Given the description of an element on the screen output the (x, y) to click on. 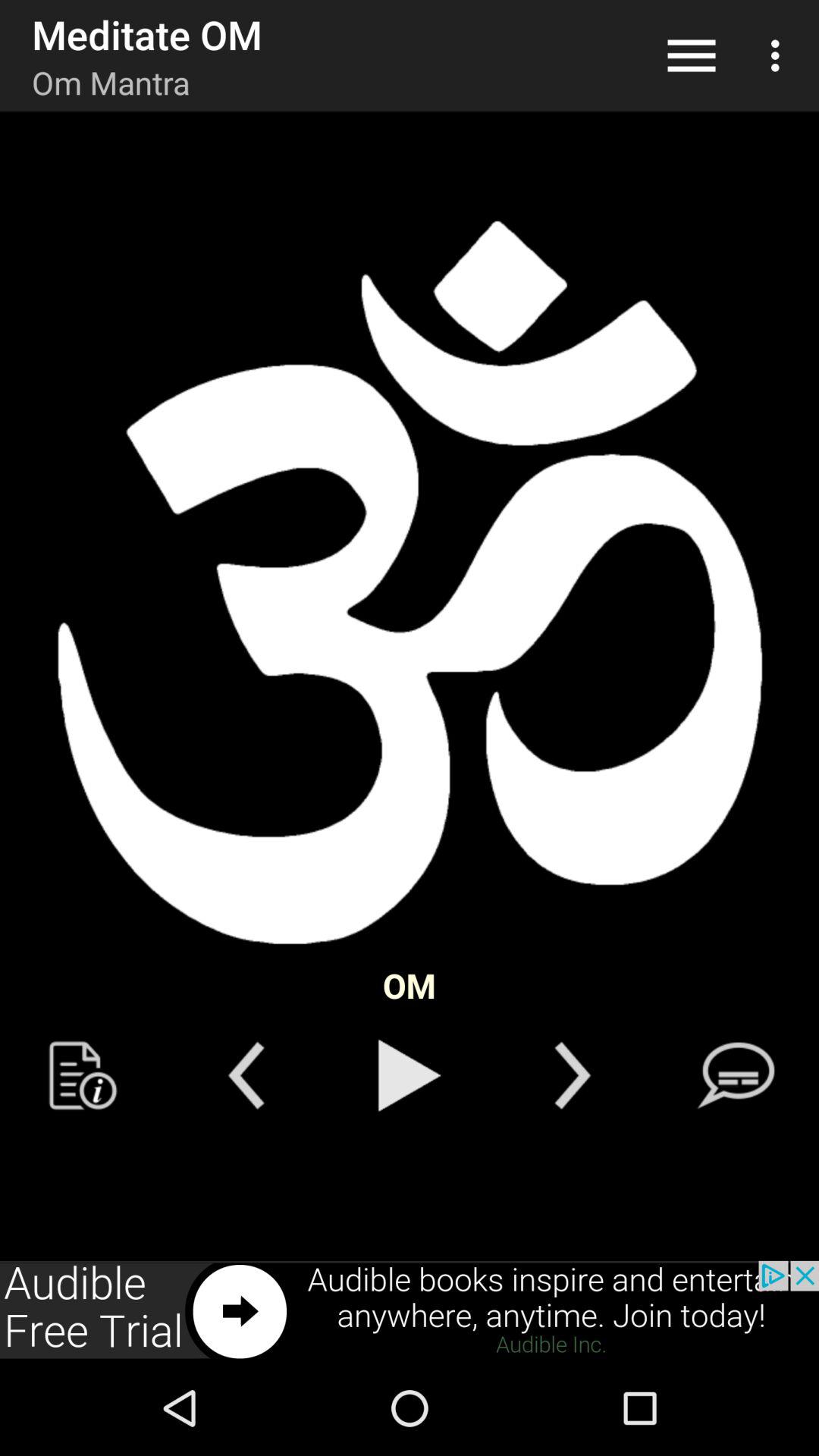
sound icon (409, 583)
